Given the description of an element on the screen output the (x, y) to click on. 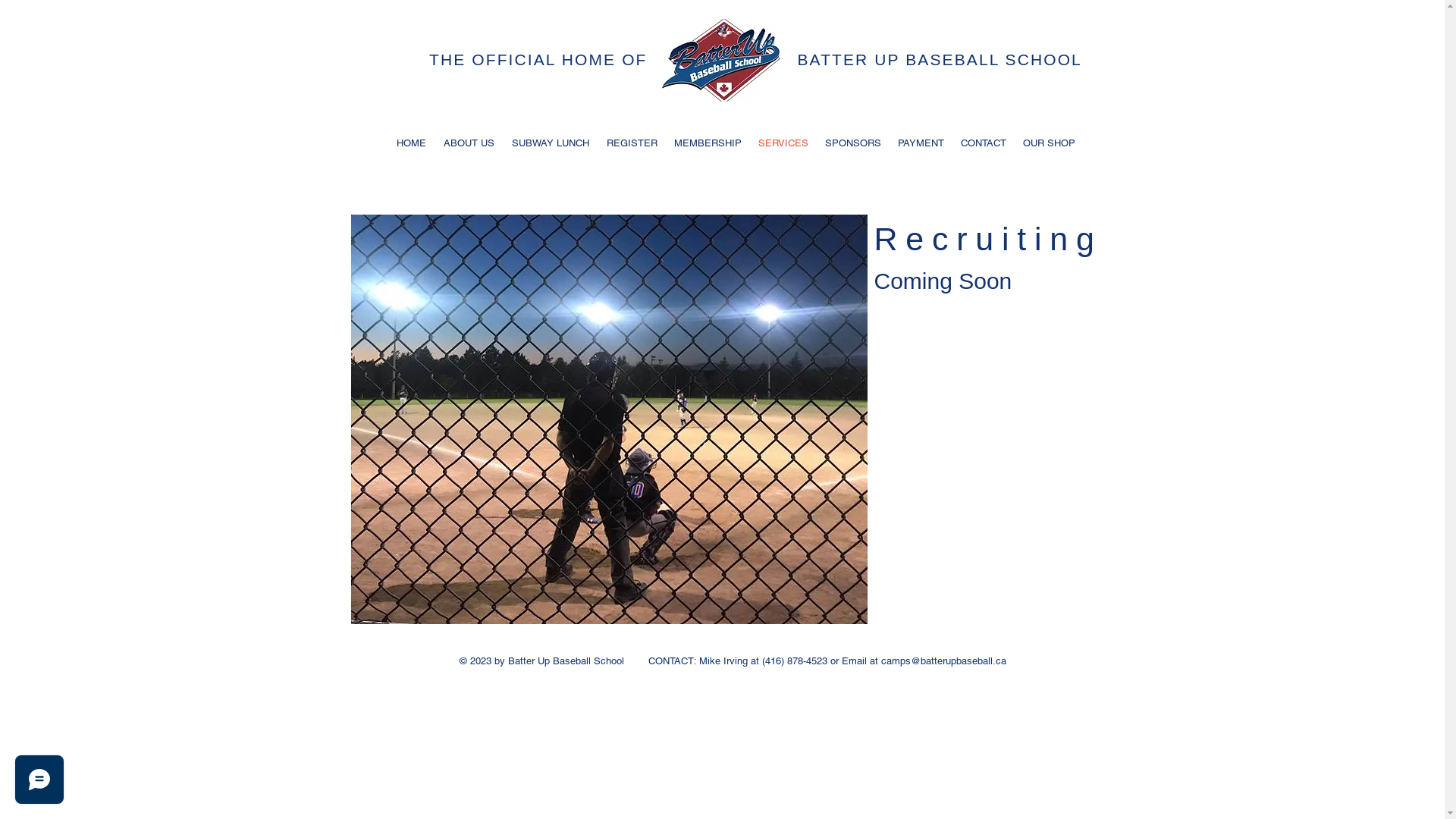
HOME Element type: text (411, 142)
PAYMENT Element type: text (919, 142)
camps@batterupbaseball.ca Element type: text (943, 660)
SUBWAY LUNCH Element type: text (550, 142)
SERVICES Element type: text (782, 142)
OUR SHOP Element type: text (1048, 142)
REGISTER Element type: text (631, 142)
ABOUT US Element type: text (469, 142)
MEMBERSHIP Element type: text (707, 142)
SPONSORS Element type: text (851, 142)
CONTACT Element type: text (983, 142)
